Given the description of an element on the screen output the (x, y) to click on. 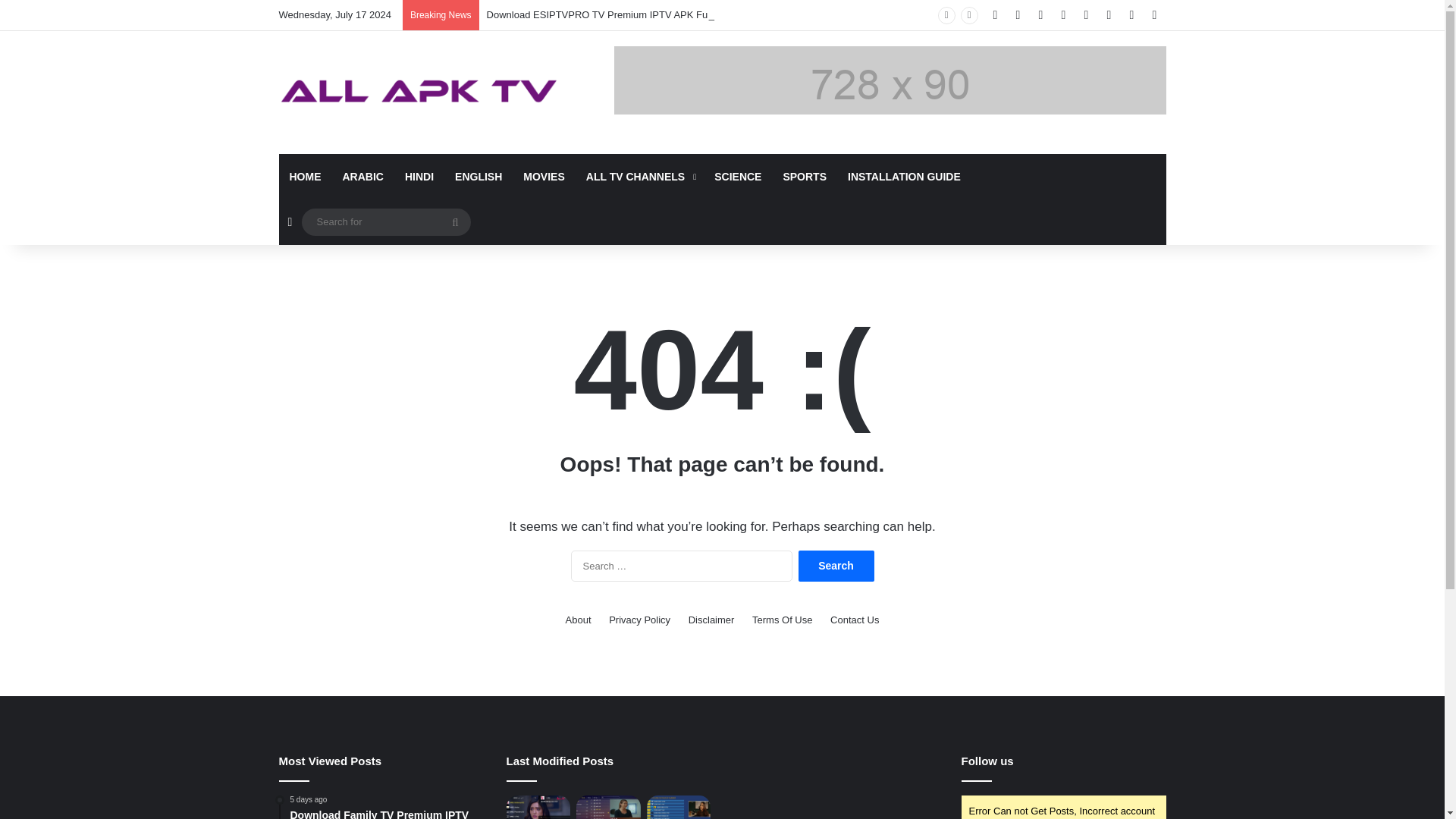
ALL APK TV (419, 92)
HOME (305, 176)
SPORTS (804, 176)
ENGLISH (478, 176)
Search (835, 565)
Random Article (290, 221)
Sidebar (1131, 15)
Instagram (1063, 15)
Switch skin (1154, 15)
Random Article (290, 221)
YouTube (1040, 15)
SCIENCE (737, 176)
Contact Us (854, 619)
Search (835, 565)
Switch skin (1154, 15)
